Given the description of an element on the screen output the (x, y) to click on. 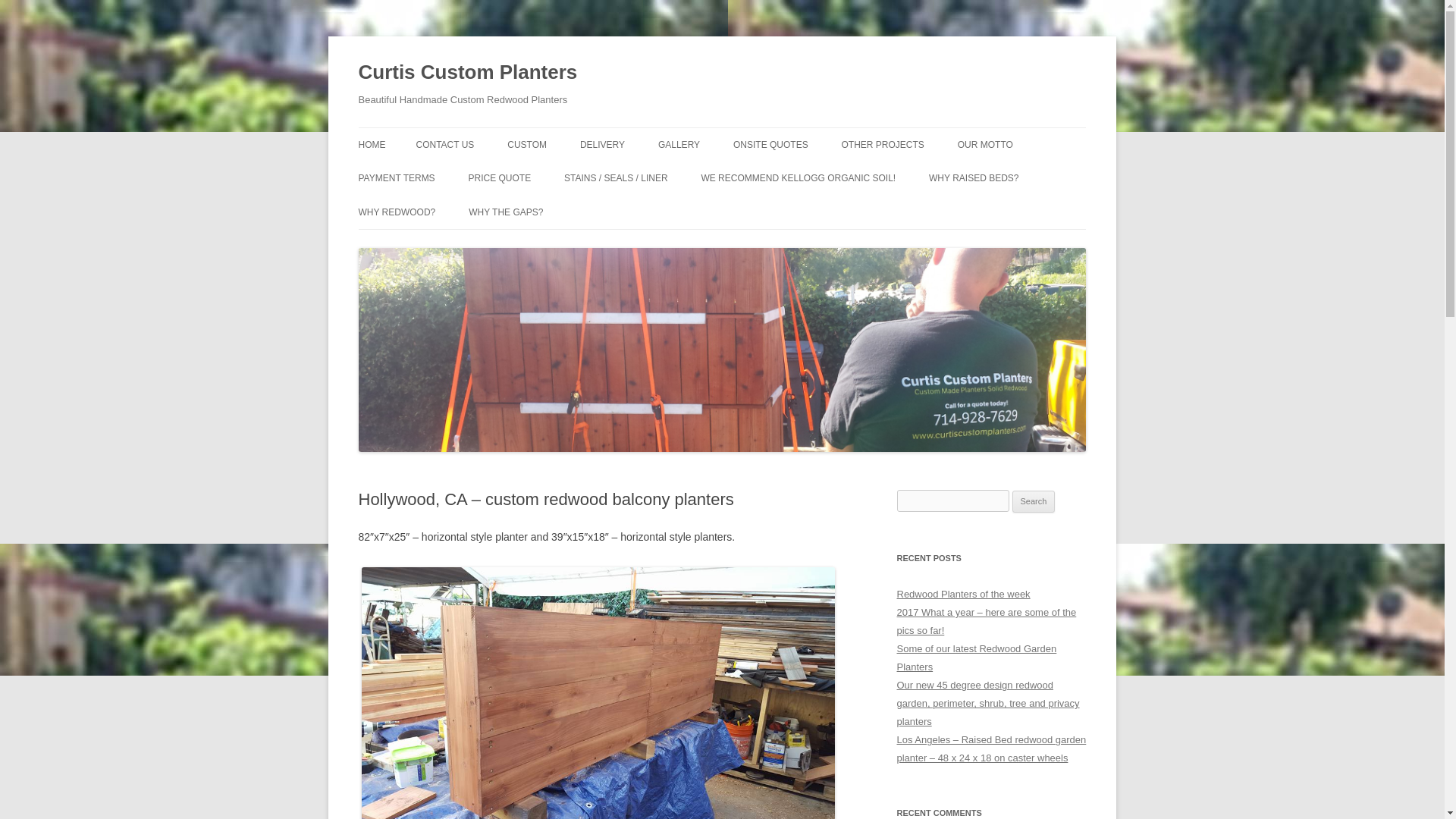
WHY RAISED BEDS? (972, 177)
OTHER PROJECTS (882, 144)
WE RECOMMEND KELLOGG ORGANIC SOIL! (797, 177)
PAYMENT TERMS (395, 177)
CUSTOM (526, 144)
PRICE QUOTE (499, 177)
Search (1033, 501)
WHY REDWOOD? (396, 212)
OUR MOTTO (985, 144)
Curtis Custom Planters (467, 72)
Curtis Custom Planters (467, 72)
WHY THE GAPS? (505, 212)
ONSITE QUOTES (770, 144)
